Given the description of an element on the screen output the (x, y) to click on. 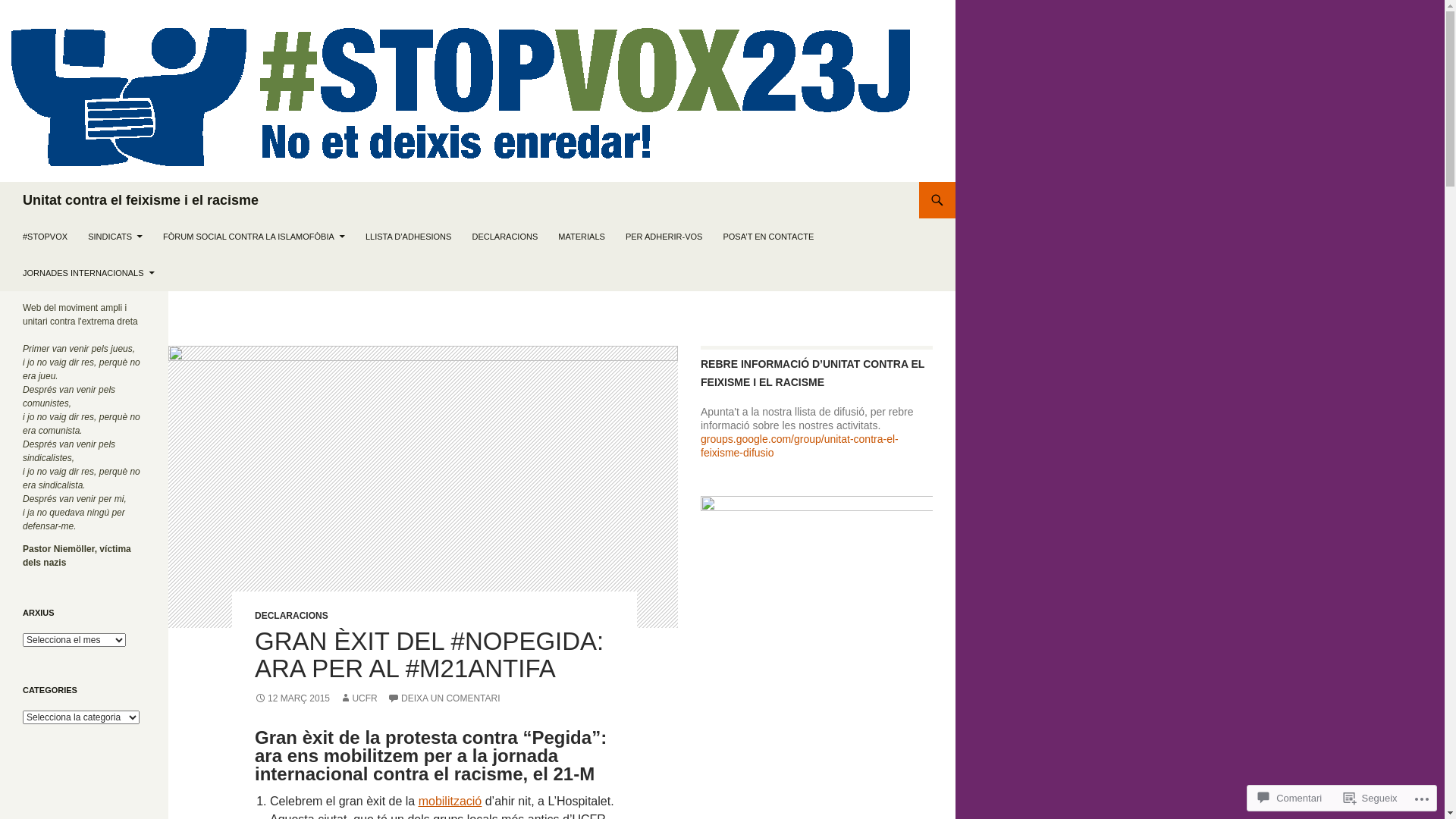
#STOPVOX Element type: text (44, 236)
JORNADES INTERNACIONALS Element type: text (88, 272)
Comentari Element type: text (1289, 797)
MATERIALS Element type: text (581, 236)
UCFR Element type: text (357, 698)
DECLARACIONS Element type: text (504, 236)
DECLARACIONS Element type: text (291, 615)
groups.google.com/group/unitat-contra-el-feixisme-difusio Element type: text (799, 445)
PER ADHERIR-VOS Element type: text (663, 236)
Unitat contra el feixisme i el racisme Element type: text (140, 200)
Cerca Element type: text (3, 181)
SINDICATS Element type: text (114, 236)
DEIXA UN COMENTARI Element type: text (443, 698)
Segueix Element type: text (1370, 797)
